Given the description of an element on the screen output the (x, y) to click on. 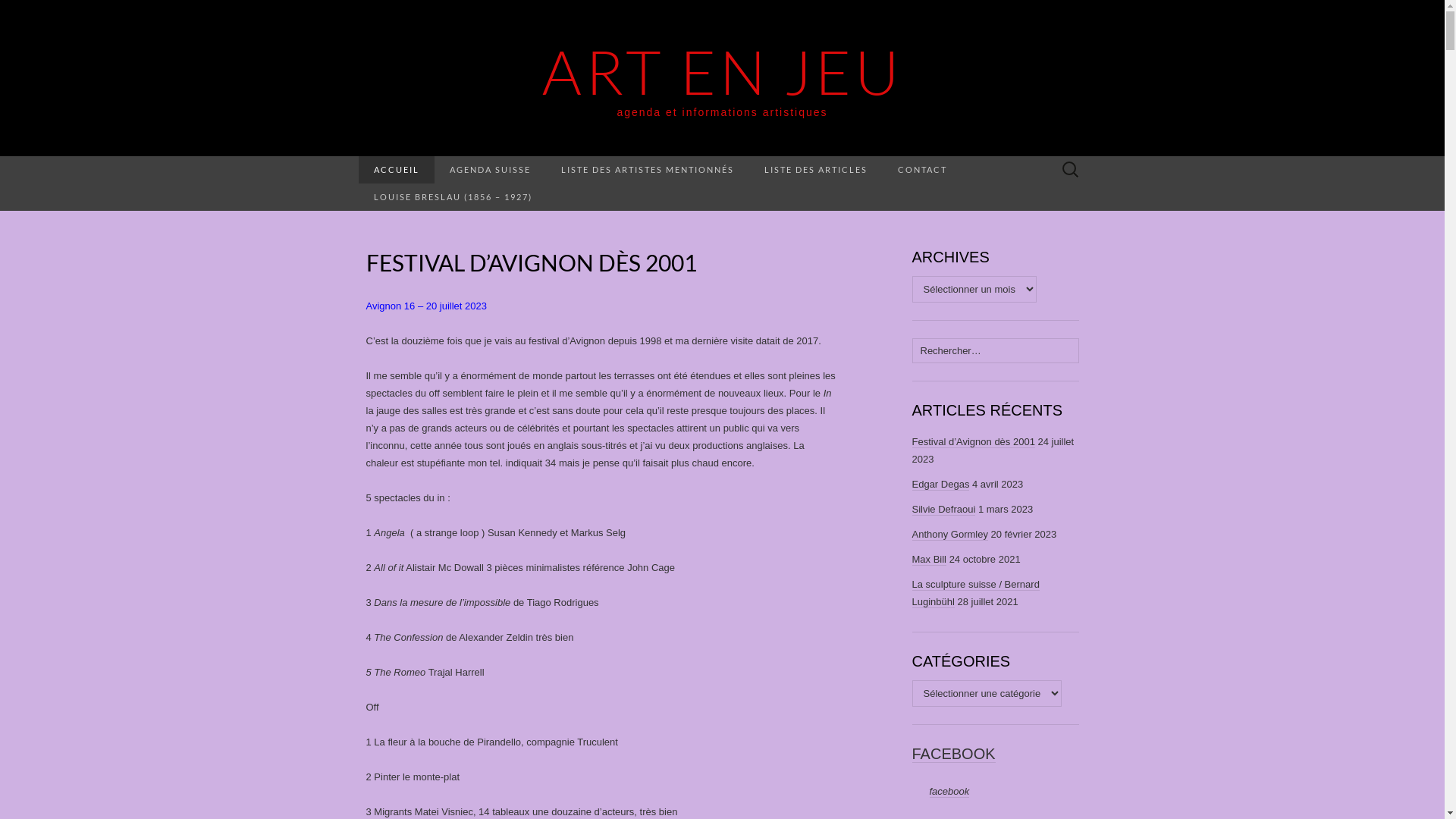
Max Bill Element type: text (928, 559)
AGENDA SUISSE Element type: text (489, 169)
CONTACT Element type: text (922, 169)
LISTE DES ARTICLES Element type: text (815, 169)
Anthony Gormley Element type: text (949, 534)
facebook Element type: text (949, 791)
Rechercher Element type: text (54, 12)
Silvie Defraoui Element type: text (943, 509)
ART EN JEU Element type: text (721, 71)
Edgar Degas Element type: text (940, 484)
FACEBOOK Element type: text (952, 753)
ACCUEIL Element type: text (395, 169)
Rechercher Element type: text (15, 12)
